Given the description of an element on the screen output the (x, y) to click on. 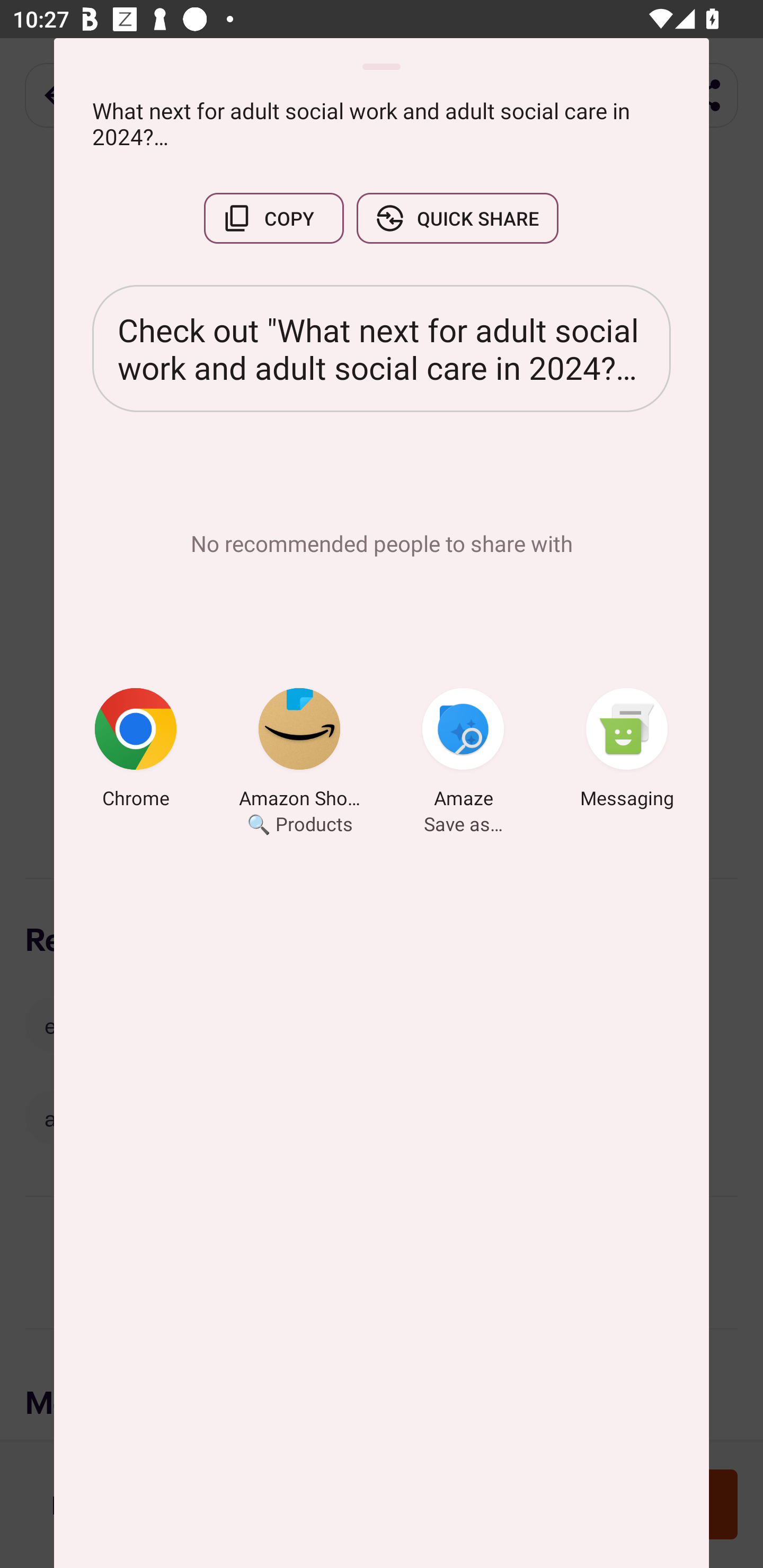
COPY (273, 218)
QUICK SHARE (457, 218)
Chrome (135, 751)
Amazon Shopping 🔍 Products (299, 751)
Amaze Save as… (463, 751)
Messaging (626, 751)
